Given the description of an element on the screen output the (x, y) to click on. 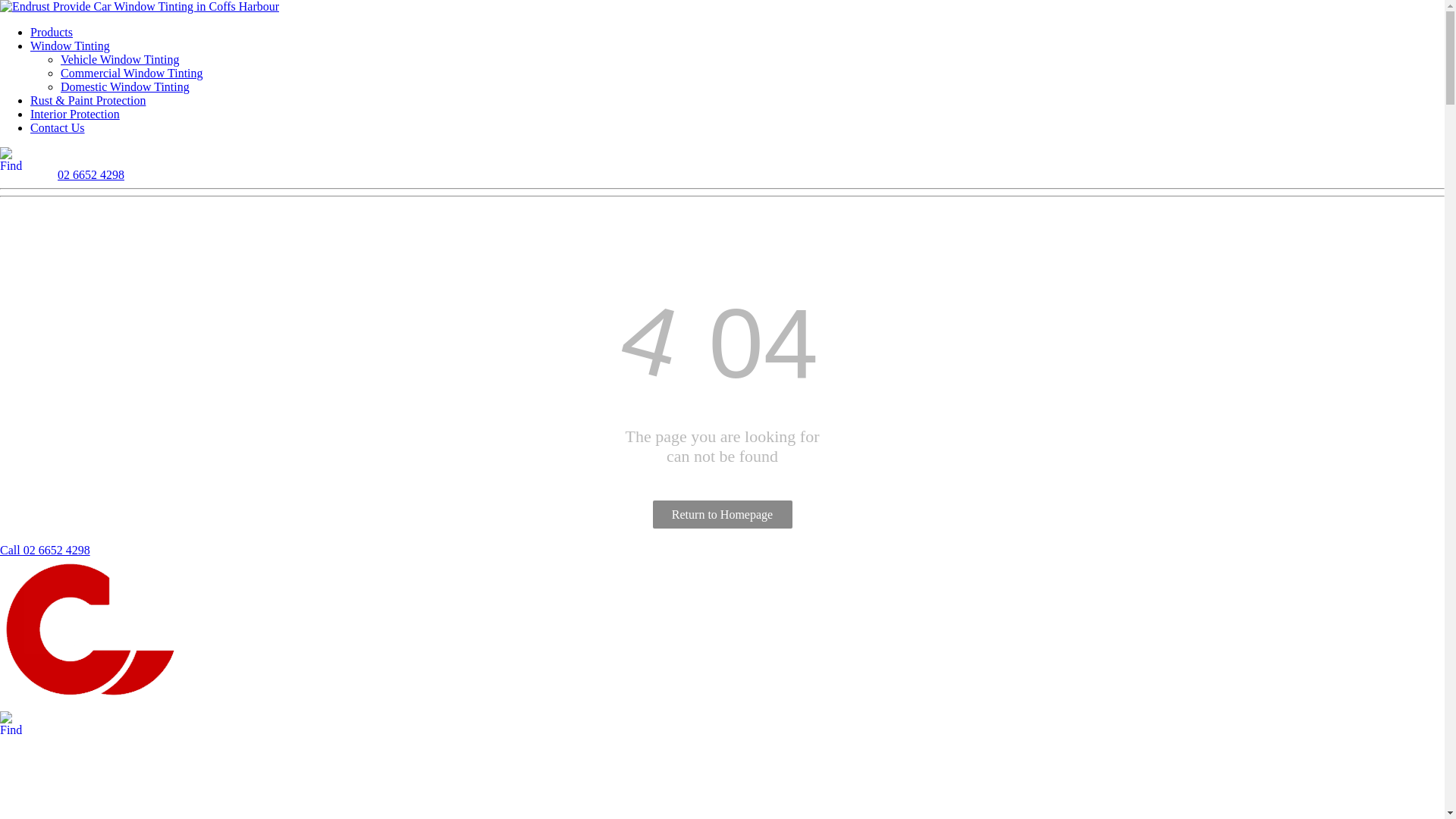
Follow Us On Instagram Element type: hover (40, 723)
Find Us On GMB Element type: hover (69, 723)
Return to Homepage Element type: text (721, 514)
Domestic Window Tinting Element type: text (124, 86)
Find Us On Facebook Element type: hover (12, 723)
Rust & Paint Protection Element type: text (87, 100)
Products Element type: text (51, 31)
Window Tinting Element type: text (69, 45)
Commercial Window Tinting Element type: text (131, 72)
Follow Us On Instagram Element type: hover (40, 159)
Vehicle Window Tinting Element type: text (119, 59)
Endrust Provide Car Window Tinting in Coffs Harbour Element type: hover (139, 6)
Contact Us Element type: text (57, 127)
www.localsearch.com.au Element type: hover (98, 723)
02 6652 4298 Element type: text (90, 174)
Endrust Provide Car Window Tinting in Coffs Harbour Element type: hover (96, 632)
Find Us On Facebook Element type: hover (12, 159)
Call 02 6652 4298 Element type: text (45, 549)
Interior Protection Element type: text (74, 113)
